Given the description of an element on the screen output the (x, y) to click on. 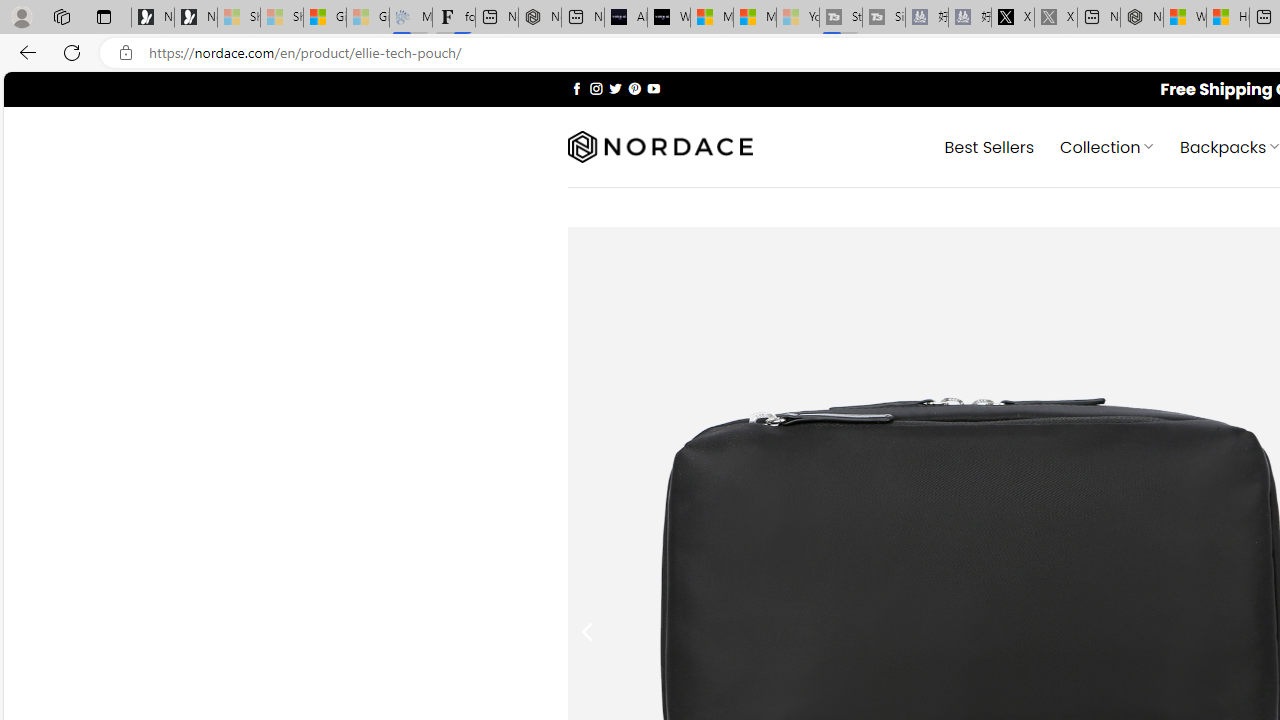
Follow on Facebook (576, 88)
Follow on Instagram (596, 88)
